Given the description of an element on the screen output the (x, y) to click on. 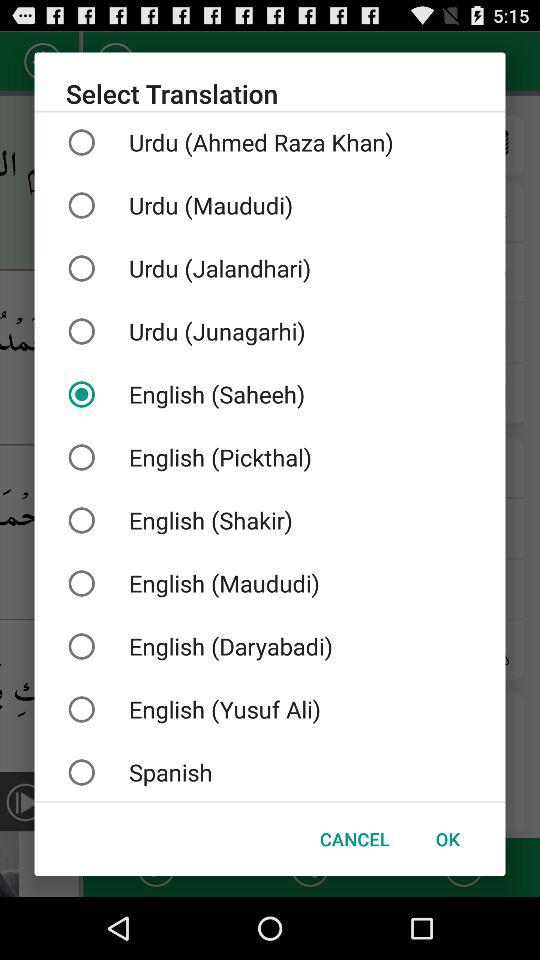
turn on the icon next to the cancel icon (447, 838)
